Given the description of an element on the screen output the (x, y) to click on. 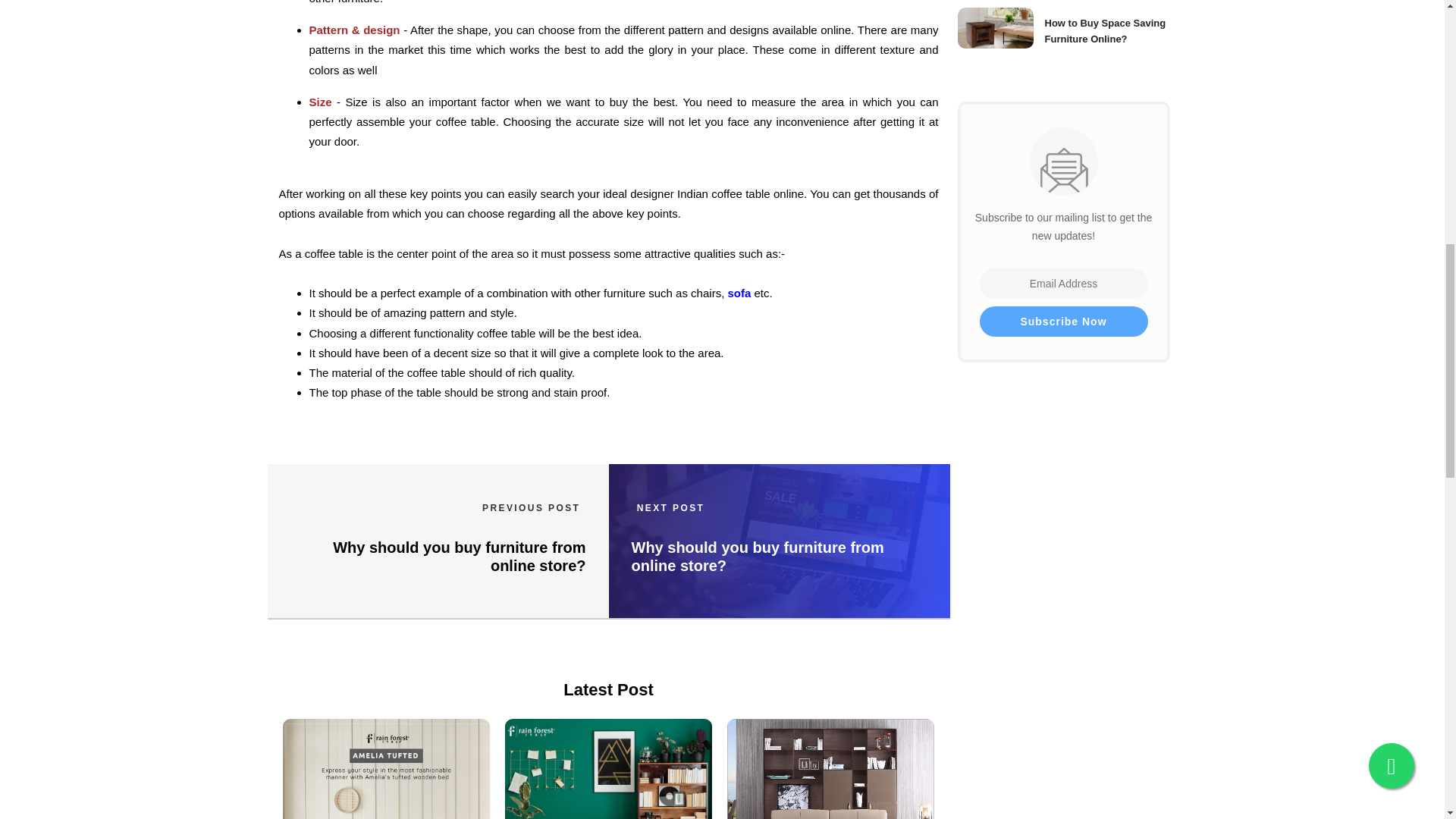
sofa (738, 292)
